Given the description of an element on the screen output the (x, y) to click on. 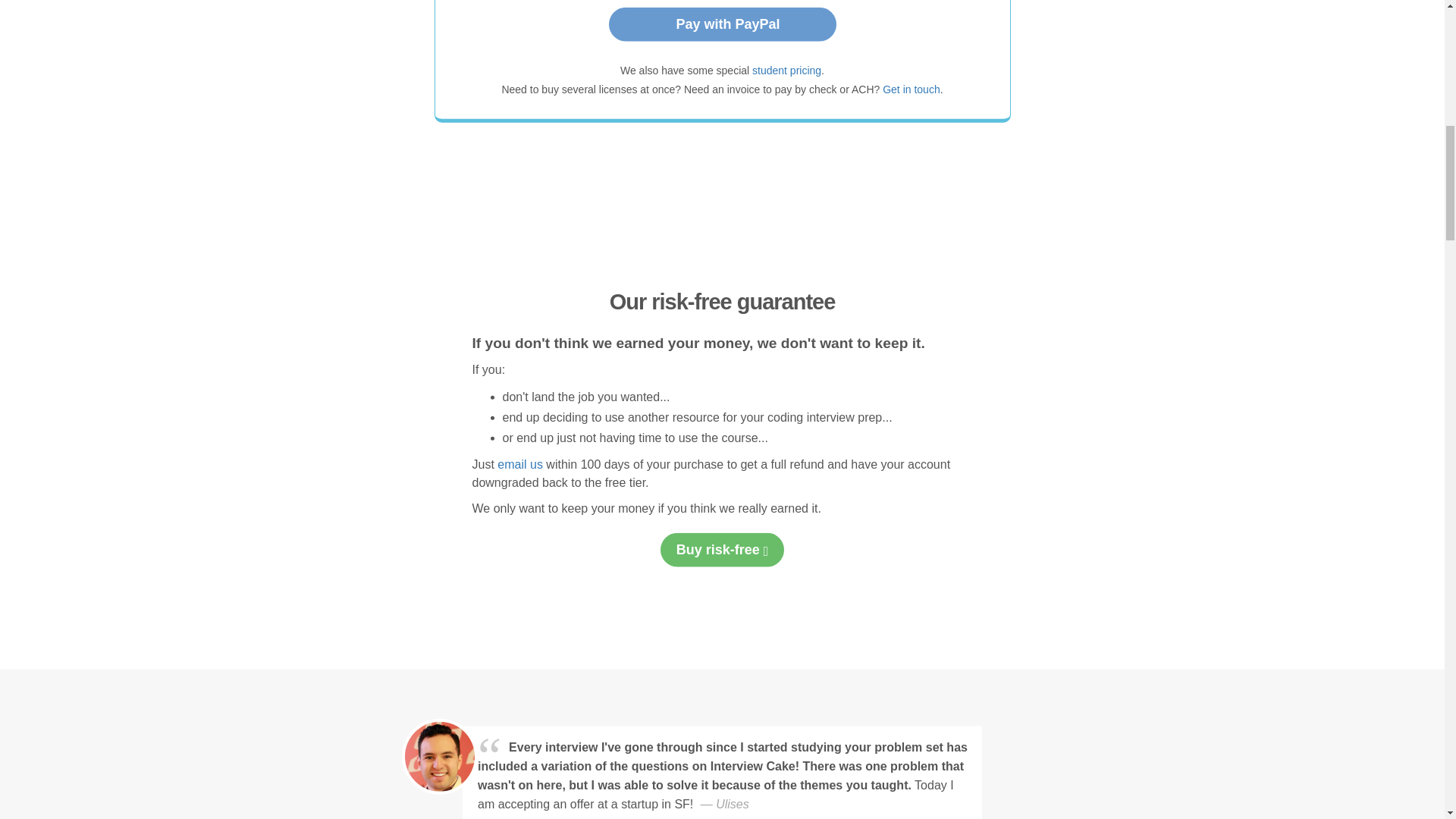
Buy risk-free (722, 550)
